Given the description of an element on the screen output the (x, y) to click on. 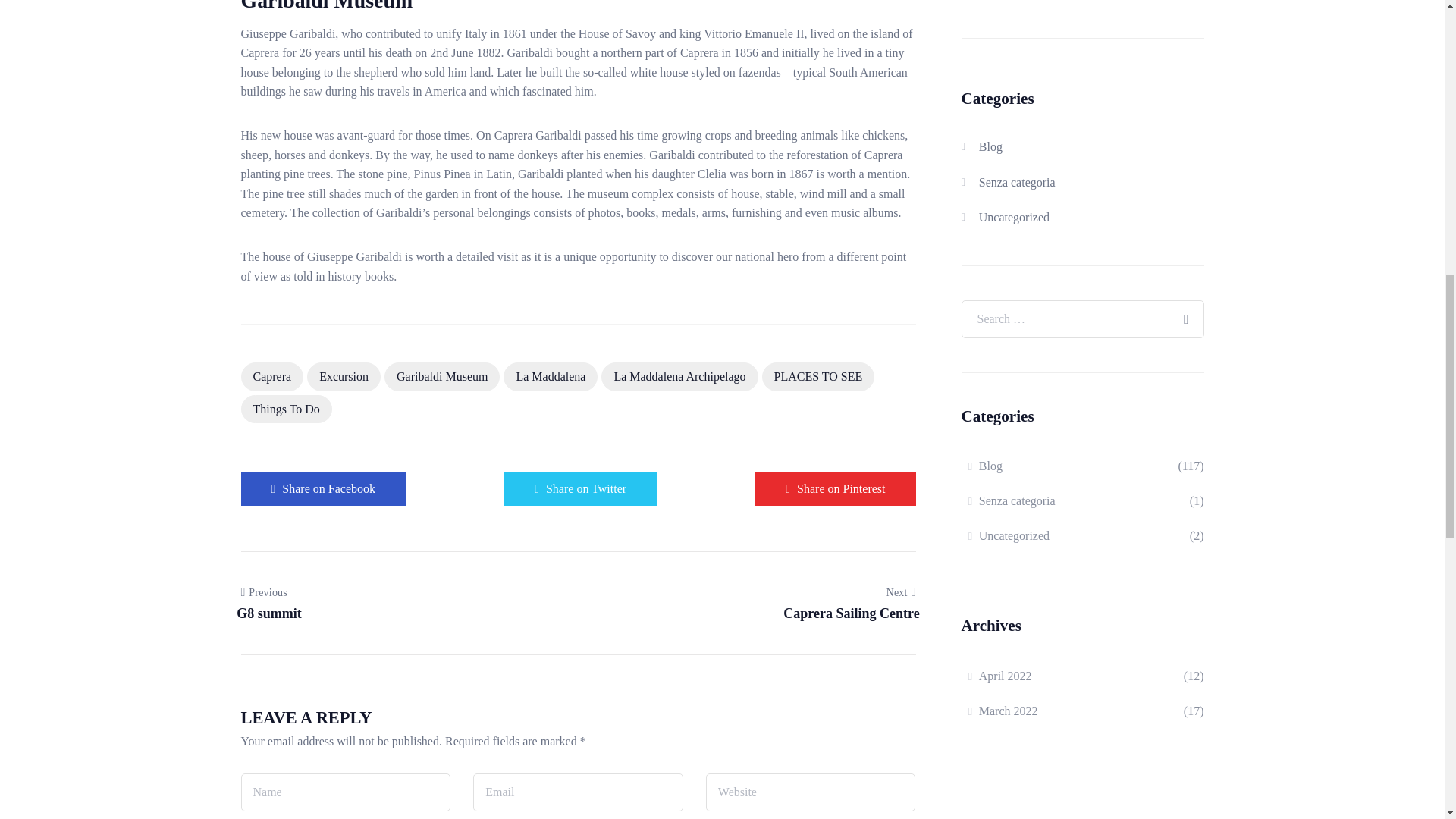
Search (1185, 309)
La Maddalena (549, 376)
Search (1185, 309)
Caprera (272, 376)
Coin Bridge and Garibaldi Museum (579, 488)
La Maddalena Archipelago (679, 376)
Coin Bridge and Garibaldi Museum (323, 488)
Coin Bridge and Garibaldi Museum (835, 488)
Garibaldi Museum (441, 376)
Excursion (343, 376)
